Given the description of an element on the screen output the (x, y) to click on. 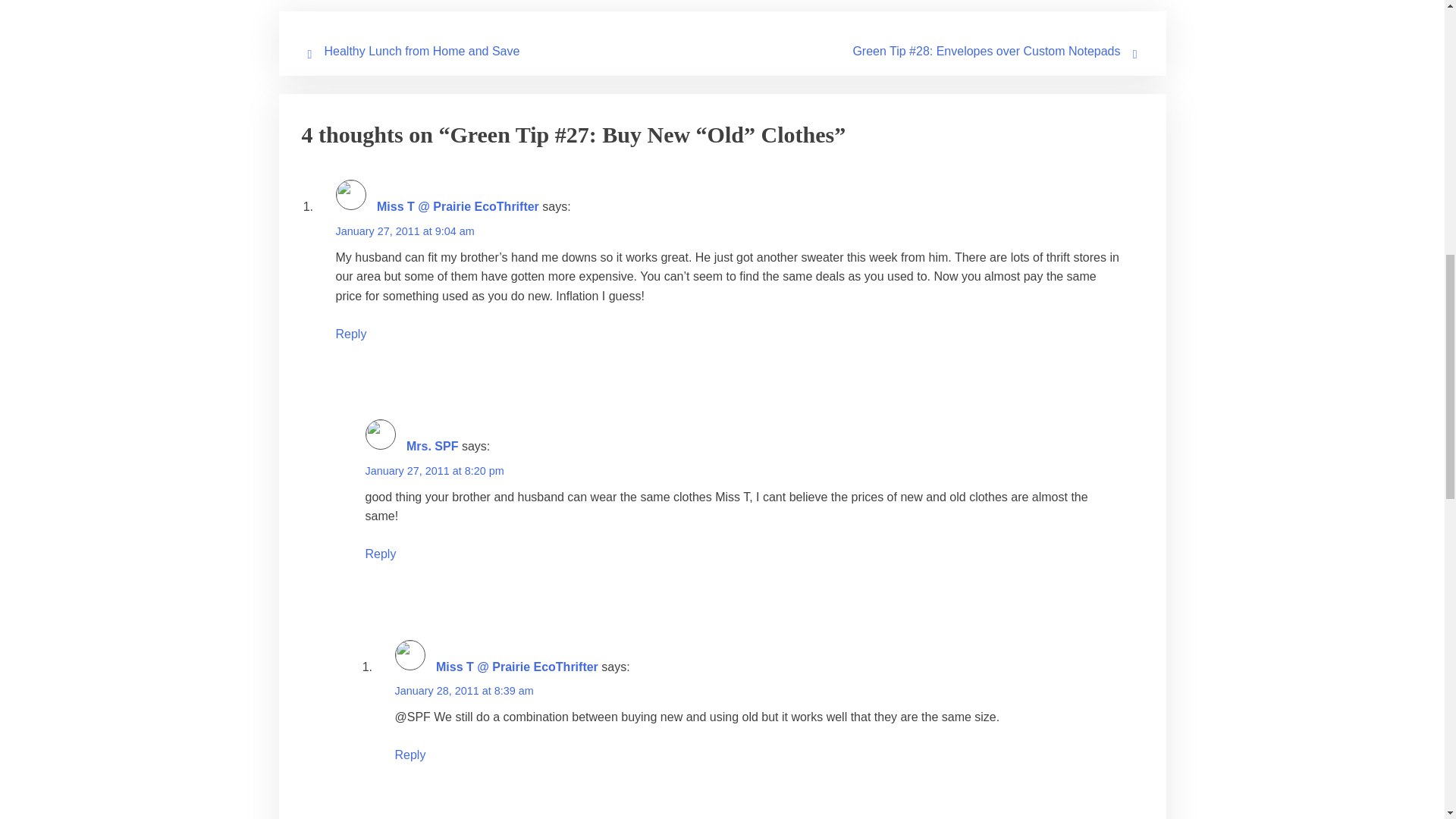
January 27, 2011 at 8:20 pm (434, 470)
Reply (409, 754)
Reply (380, 553)
Healthy Lunch from Home and Save (421, 51)
January 28, 2011 at 8:39 am (463, 690)
Mrs. SPF (432, 445)
January 27, 2011 at 9:04 am (404, 231)
Reply (350, 333)
